Given the description of an element on the screen output the (x, y) to click on. 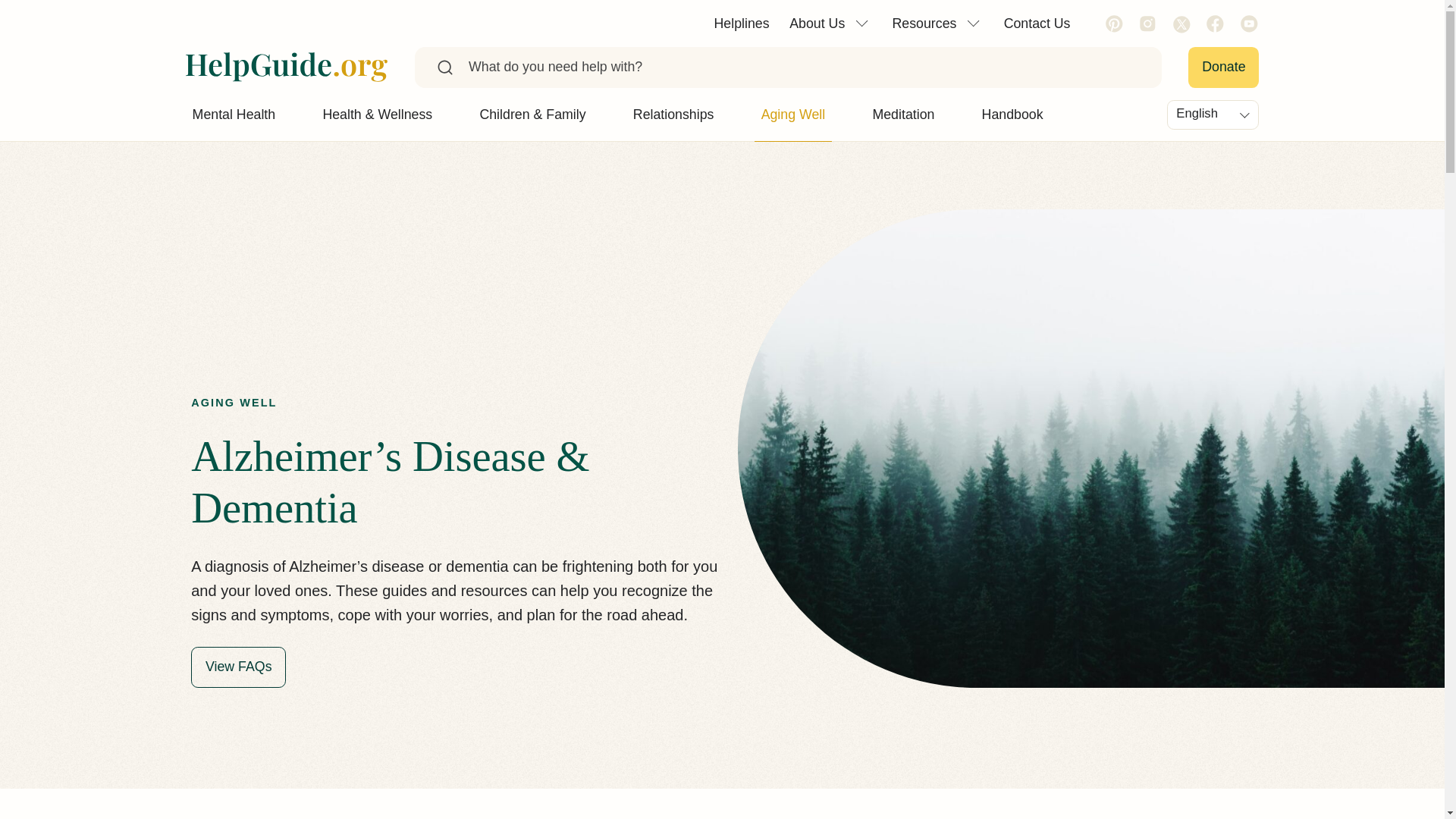
View FAQs (237, 667)
Helplines (740, 23)
Donate (1223, 66)
Mental Health (242, 114)
Resources (937, 23)
About Us (830, 23)
Contact Us (1036, 23)
